Given the description of an element on the screen output the (x, y) to click on. 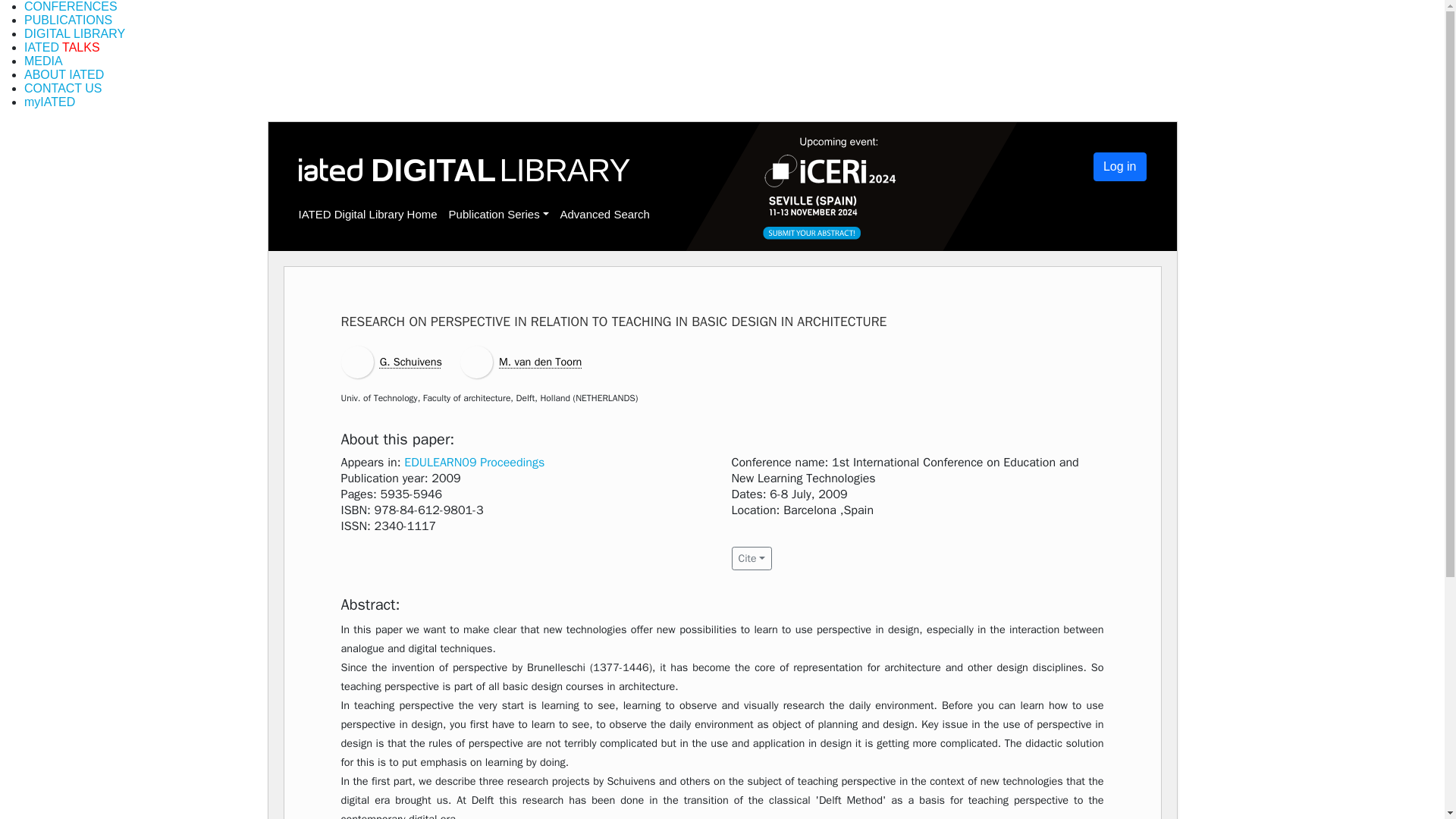
Publication Series (498, 214)
CONFERENCES (70, 6)
ABOUT IATED (63, 74)
G. Schuivens (411, 361)
PUBLICATIONS (68, 19)
Cite (750, 558)
Advanced Search (604, 214)
IATED TALKS (62, 47)
IATED Digital Library Home (368, 214)
Log in (1120, 166)
